Given the description of an element on the screen output the (x, y) to click on. 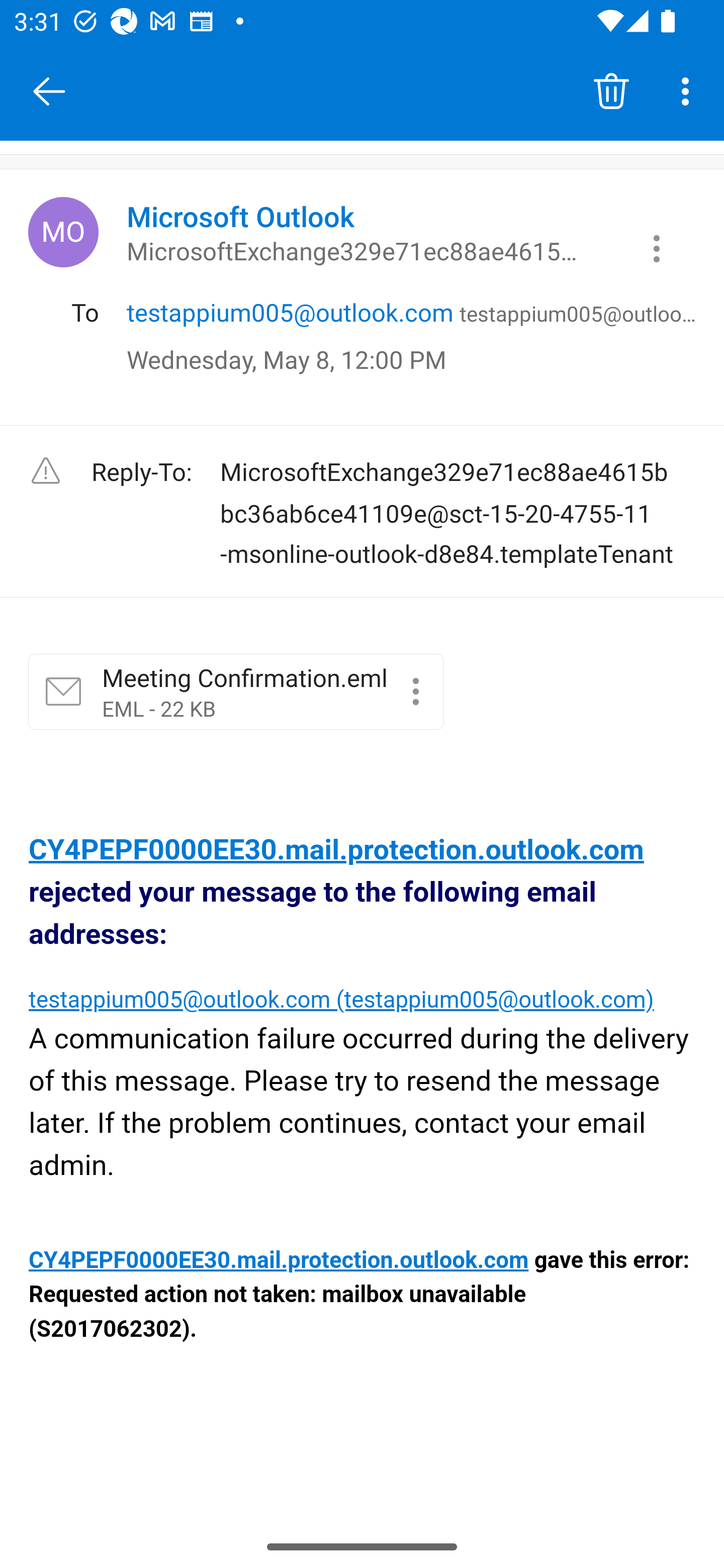
Close (49, 91)
Delete (611, 90)
More options (688, 90)
Message actions (656, 248)
Meeting Confirmation.eml (415, 691)
CY4PEPF0000EE30.mail.protection.outlook.com (336, 849)
CY4PEPF0000EE30.mail.protection.outlook.com (278, 1261)
